Given the description of an element on the screen output the (x, y) to click on. 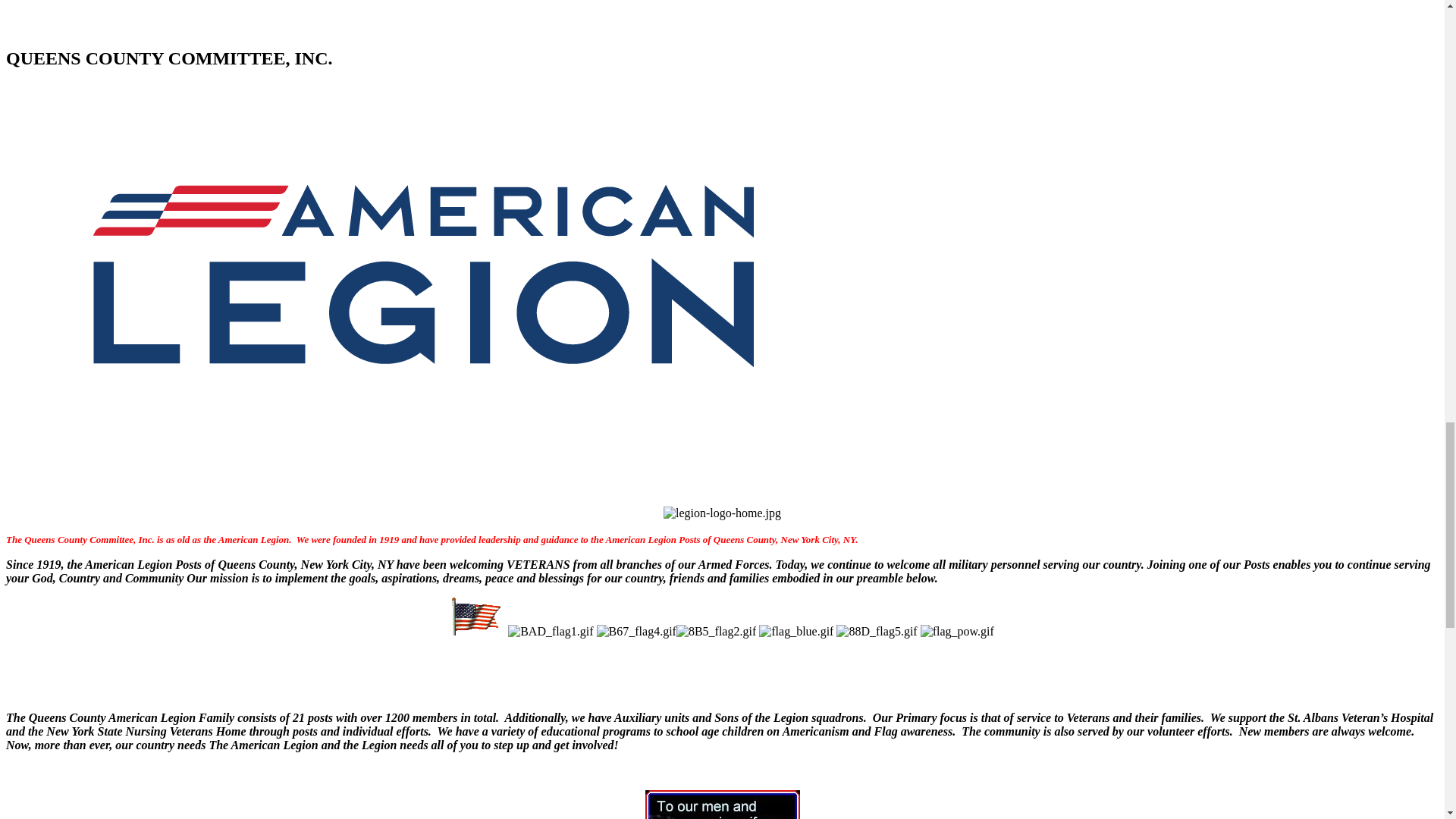
American Legion (422, 15)
honorvet1.jpg (722, 804)
flag6.gif (475, 616)
legion-logo-home.jpg (721, 513)
